Given the description of an element on the screen output the (x, y) to click on. 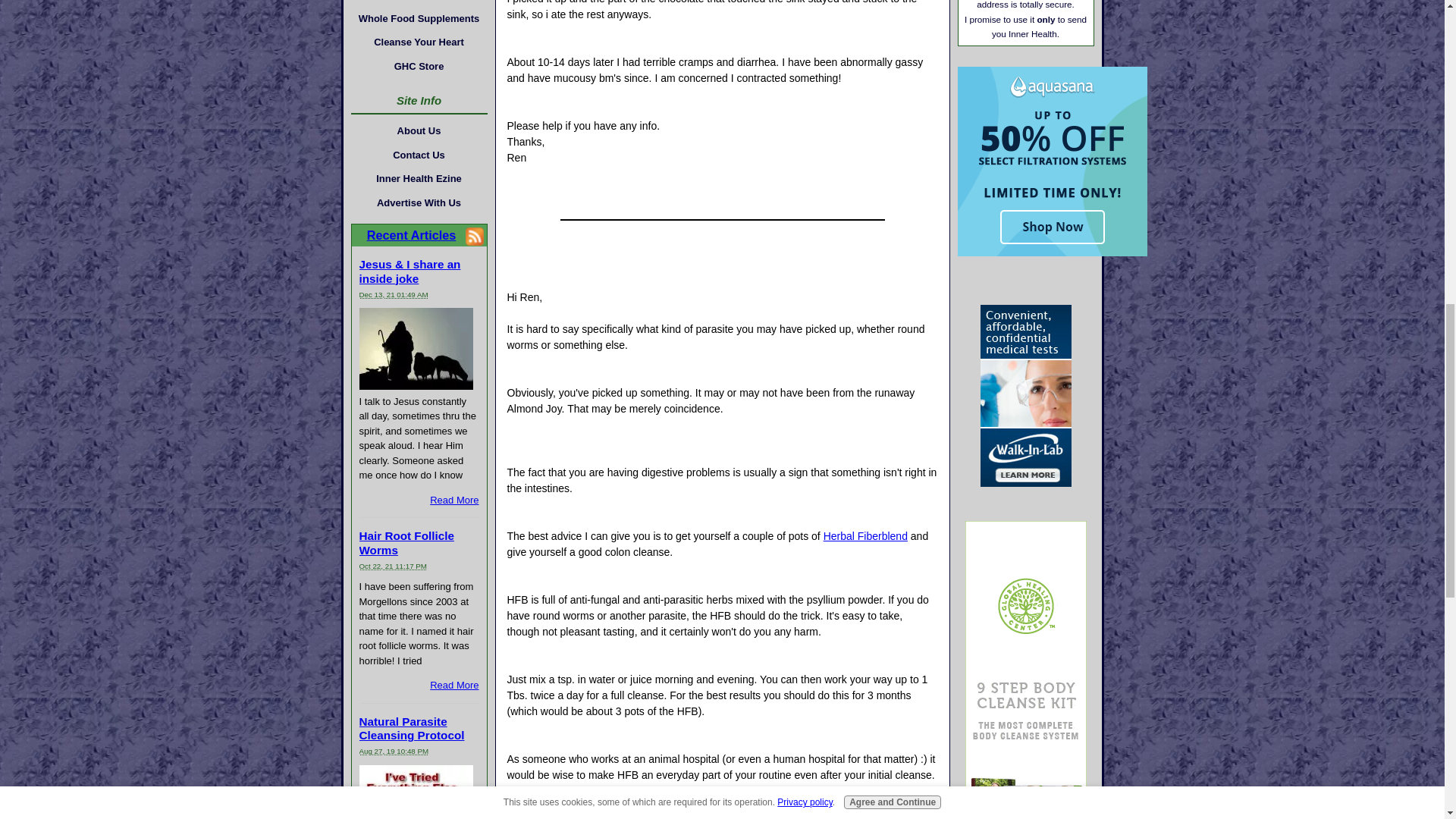
Recent Articles (411, 234)
GHC Store (418, 65)
About Us (418, 130)
Advertise With Us (418, 201)
Cleanse Your Heart (418, 42)
2021-12-13T01:49:21-0500 (393, 294)
Nutritional Supplements (418, 2)
Inner Health Ezine (418, 178)
2021-10-22T23:17:58-0400 (392, 565)
2019-08-27T22:48:39-0400 (394, 750)
Contact Us (418, 155)
Whole Food Supplements (418, 18)
Herbal Fiberblend (865, 535)
